Given the description of an element on the screen output the (x, y) to click on. 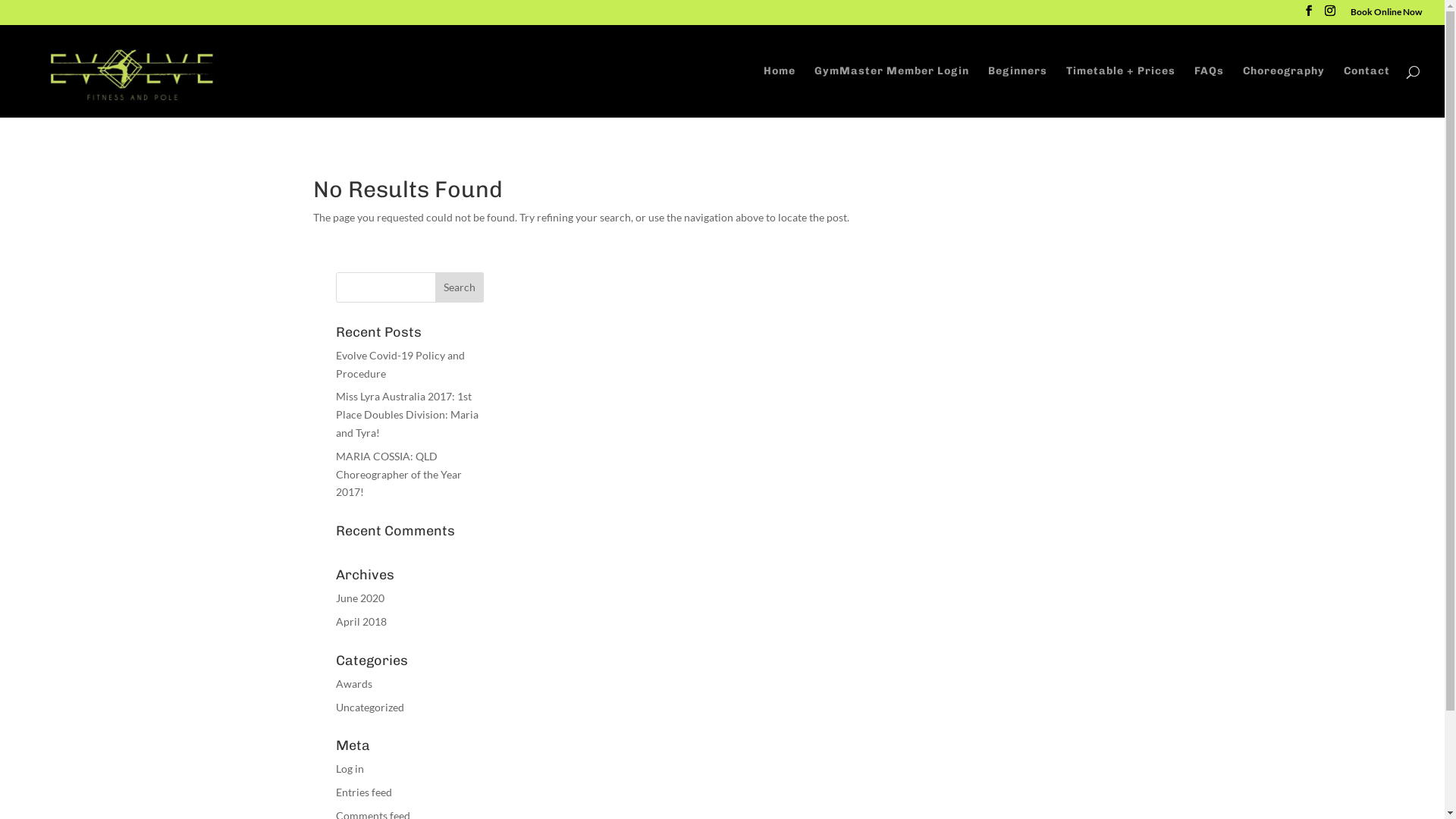
Uncategorized Element type: text (369, 706)
Timetable + Prices Element type: text (1120, 90)
June 2020 Element type: text (359, 597)
Search Element type: text (459, 287)
Contact Element type: text (1366, 90)
Evolve Covid-19 Policy and Procedure Element type: text (399, 363)
Book Online Now Element type: text (1385, 15)
Awards Element type: text (353, 683)
FAQs Element type: text (1208, 90)
Home Element type: text (779, 90)
April 2018 Element type: text (360, 621)
GymMaster Member Login Element type: text (891, 90)
MARIA COSSIA: QLD Choreographer of the Year 2017! Element type: text (398, 473)
Log in Element type: text (349, 768)
Entries feed Element type: text (363, 791)
Choreography Element type: text (1283, 90)
Beginners Element type: text (1017, 90)
